Given the description of an element on the screen output the (x, y) to click on. 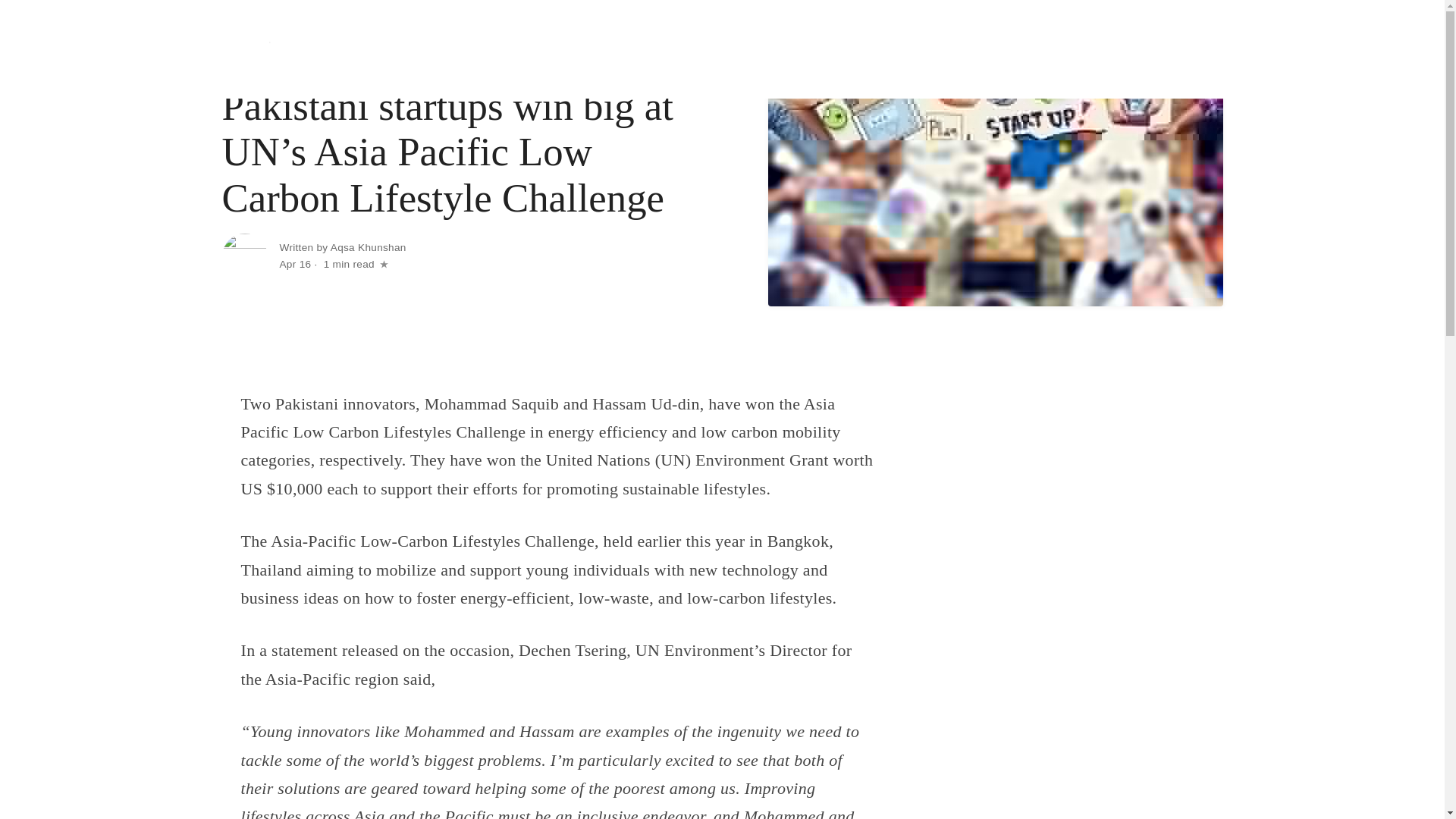
STARTUPS (253, 60)
Mobile (997, 49)
Writers (1192, 49)
Startups (939, 49)
Investment (1062, 49)
Education (1129, 49)
Technology (874, 49)
Written by Aqsa Khunshan (342, 247)
